Given the description of an element on the screen output the (x, y) to click on. 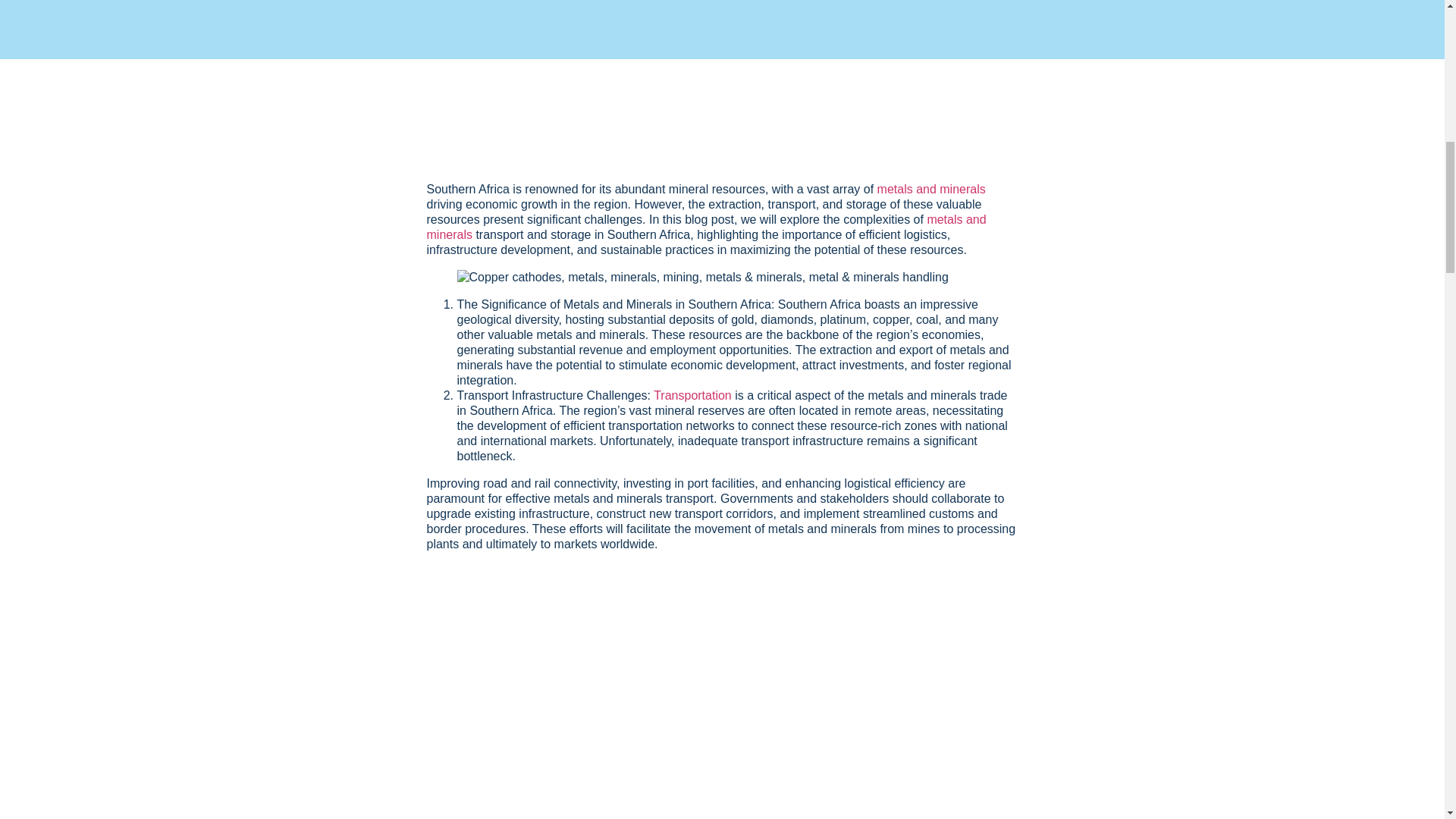
metals and minerals (705, 226)
metals and minerals (931, 188)
